Given the description of an element on the screen output the (x, y) to click on. 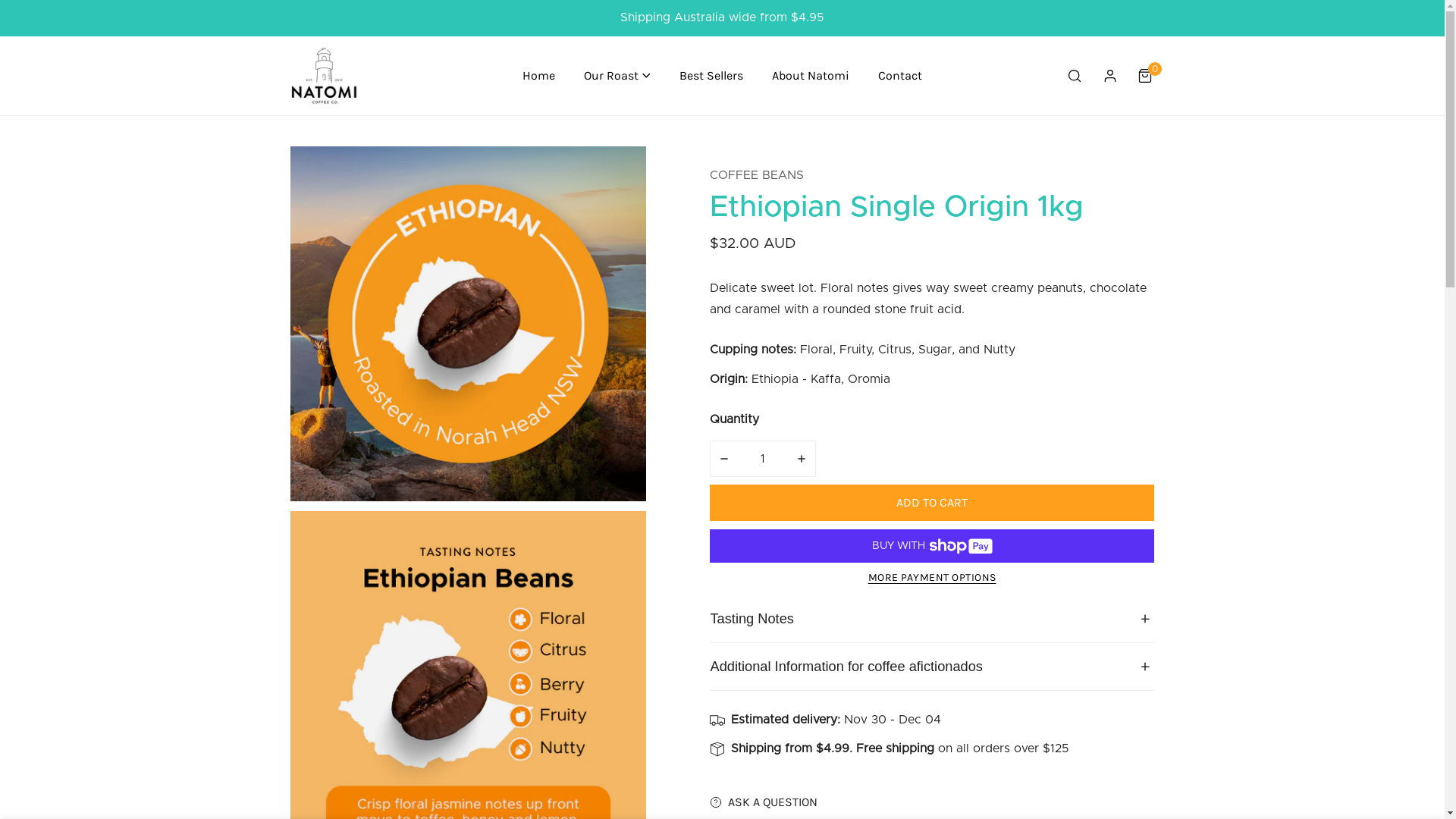
SKIP TO PRODUCT INFORMATION Element type: text (315, 163)
Tasting Notes Element type: text (931, 619)
Home Element type: text (538, 75)
Additional Information for coffee afictionados Element type: text (931, 666)
Contact Element type: text (899, 75)
0
items Element type: text (1145, 76)
MORE PAYMENT OPTIONS Element type: text (931, 577)
Best Sellers Element type: text (711, 75)
About Natomi Element type: text (810, 75)
Log in Element type: text (1109, 76)
DECREASE QUANTITY FOR ETHIOPIAN SINGLE ORIGIN 1KG Element type: text (723, 458)
Natomi Coffee Company Element type: hover (324, 75)
ADD TO CART Element type: text (931, 502)
INCREASE QUANTITY FOR ETHIOPIAN SINGLE ORIGIN 1KG Element type: text (801, 458)
COFFEE BEANS Element type: text (756, 175)
